Given the description of an element on the screen output the (x, y) to click on. 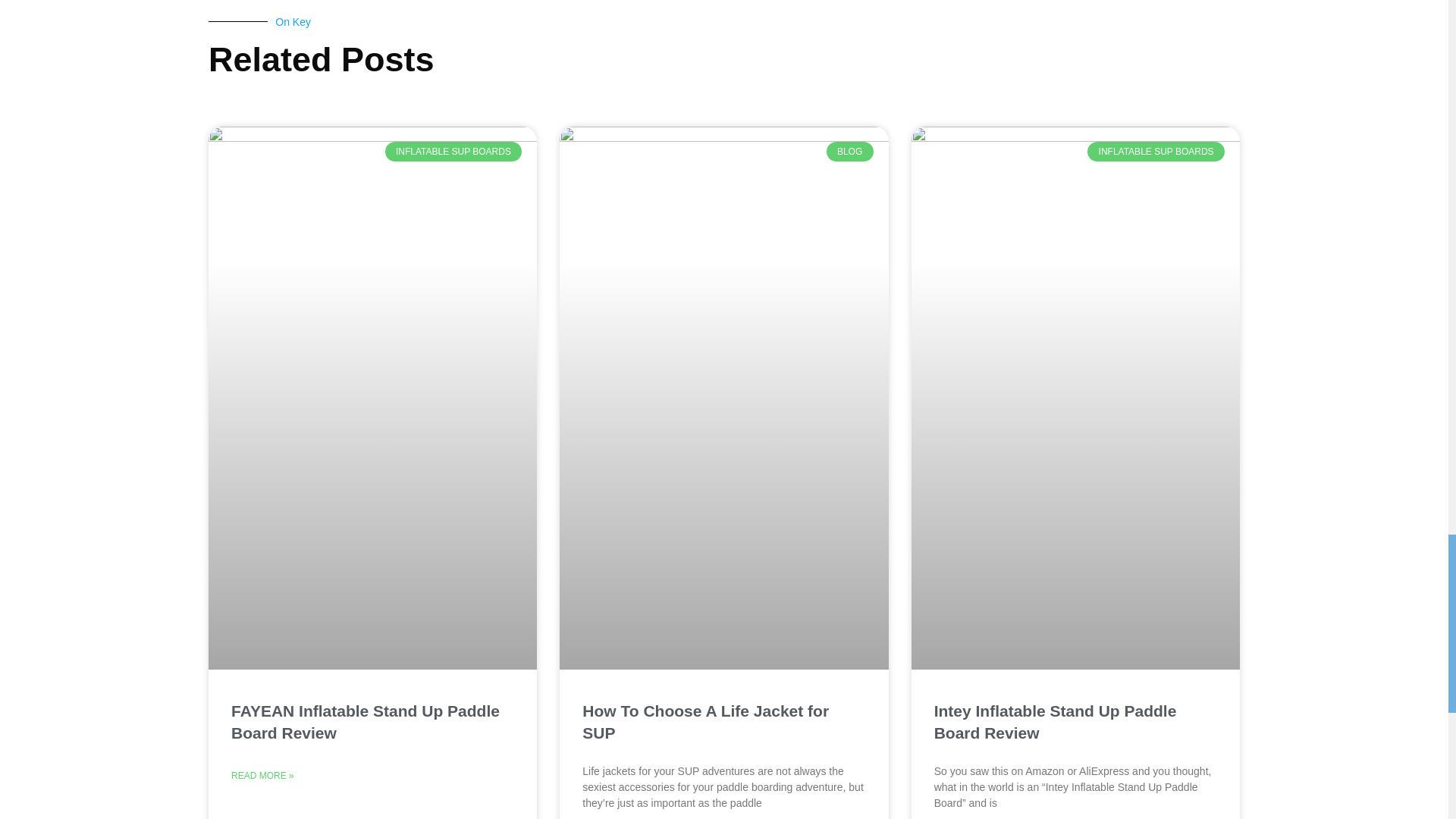
FAYEAN Inflatable Stand Up Paddle Board Review (365, 721)
